Given the description of an element on the screen output the (x, y) to click on. 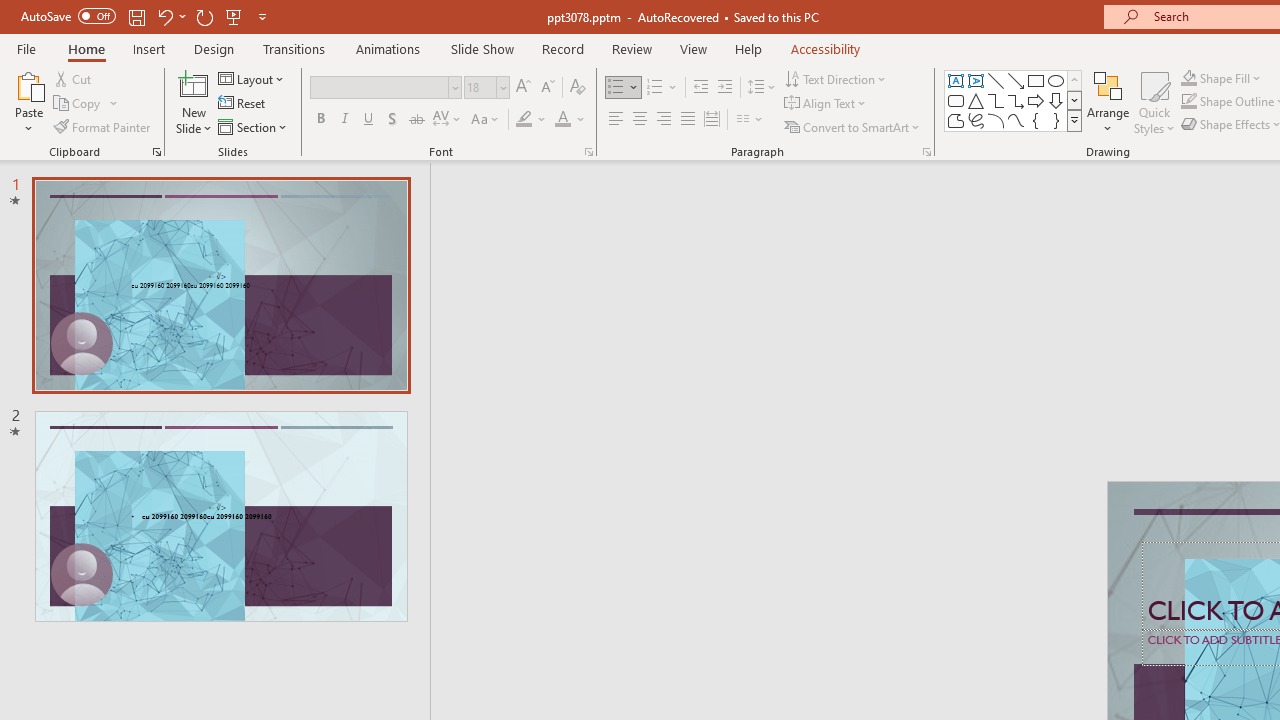
Rectangle (1035, 80)
Shapes (1074, 120)
Reset (243, 103)
Layout (252, 78)
AutomationID: ShapesInsertGallery (1014, 100)
Font (385, 87)
Align Right (663, 119)
Line (995, 80)
Character Spacing (447, 119)
Left Brace (1035, 120)
Font Color (569, 119)
